Given the description of an element on the screen output the (x, y) to click on. 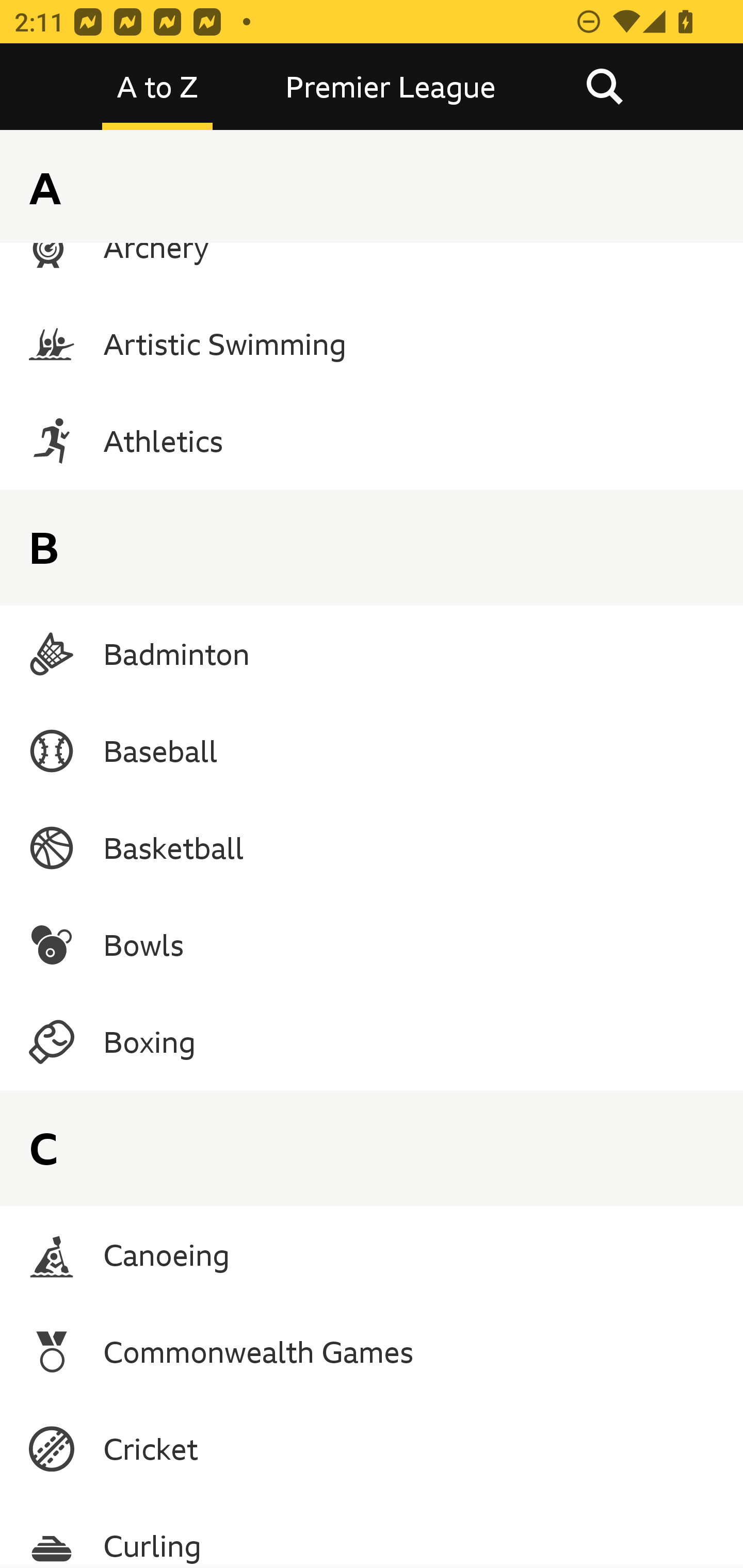
Premier League (390, 86)
Search (604, 86)
American Football (371, 164)
Archery (371, 246)
Artistic Swimming (371, 343)
Athletics (371, 440)
Badminton (371, 653)
Baseball (371, 750)
Basketball (371, 847)
Bowls (371, 945)
Boxing (371, 1041)
Canoeing (371, 1254)
Commonwealth Games (371, 1351)
Cricket (371, 1448)
Curling (371, 1532)
